Given the description of an element on the screen output the (x, y) to click on. 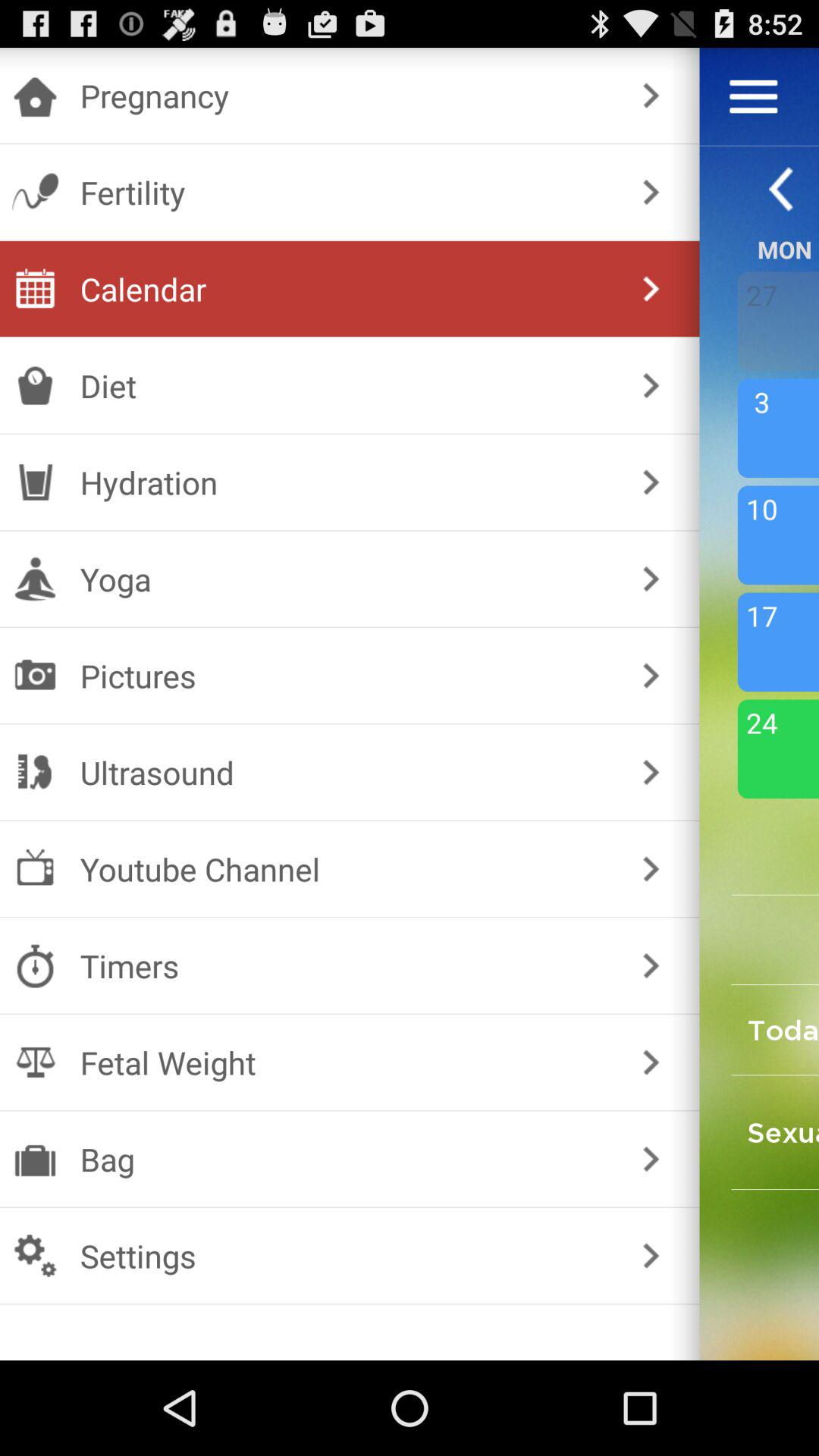
select the diet (346, 385)
